Given the description of an element on the screen output the (x, y) to click on. 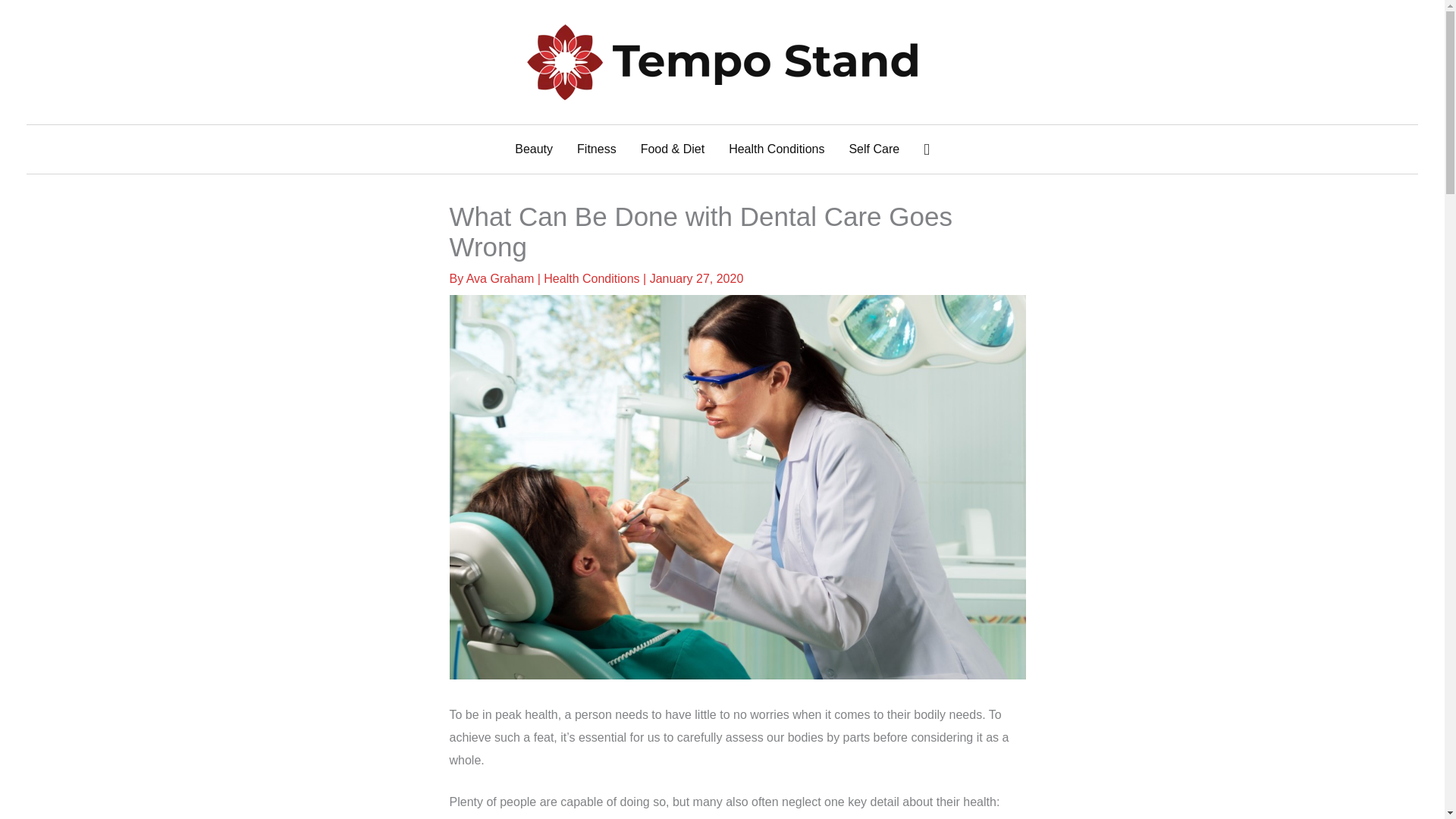
Health Conditions (591, 278)
their dental need (493, 818)
View all posts by Ava Graham (501, 278)
Beauty (533, 149)
Self Care (873, 149)
Ava Graham (501, 278)
Health Conditions (775, 149)
Fitness (596, 149)
